Given the description of an element on the screen output the (x, y) to click on. 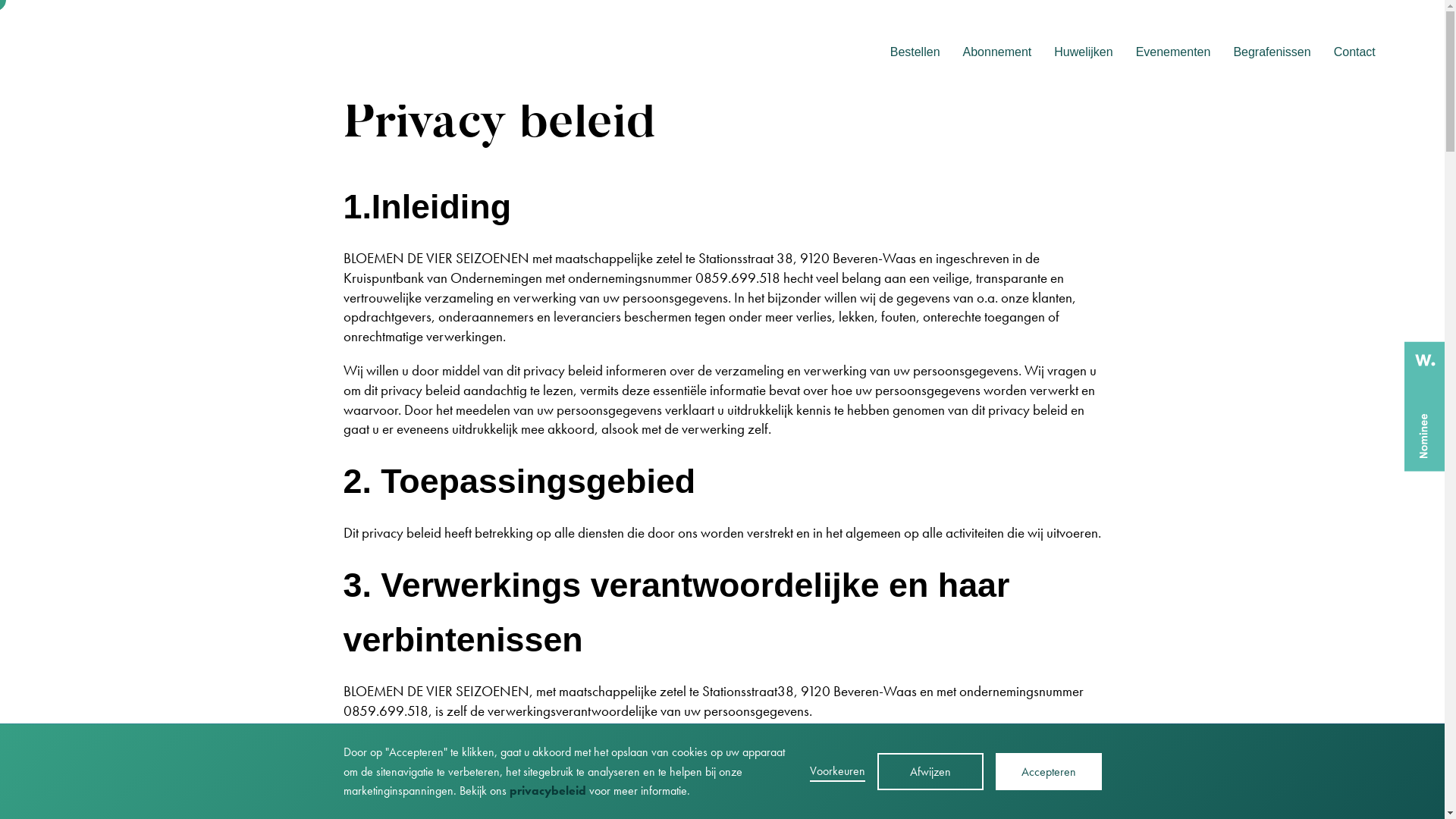
privacybeleid Element type: text (547, 790)
Accepteren Element type: text (1047, 771)
Voorkeuren Element type: text (837, 771)
Huwelijken Element type: text (1083, 52)
Bestellen Element type: text (915, 52)
Contact Element type: text (1354, 52)
Begrafenissen Element type: text (1271, 52)
Afwijzen Element type: text (929, 771)
Abonnement Element type: text (997, 52)
Evenementen Element type: text (1173, 52)
